Given the description of an element on the screen output the (x, y) to click on. 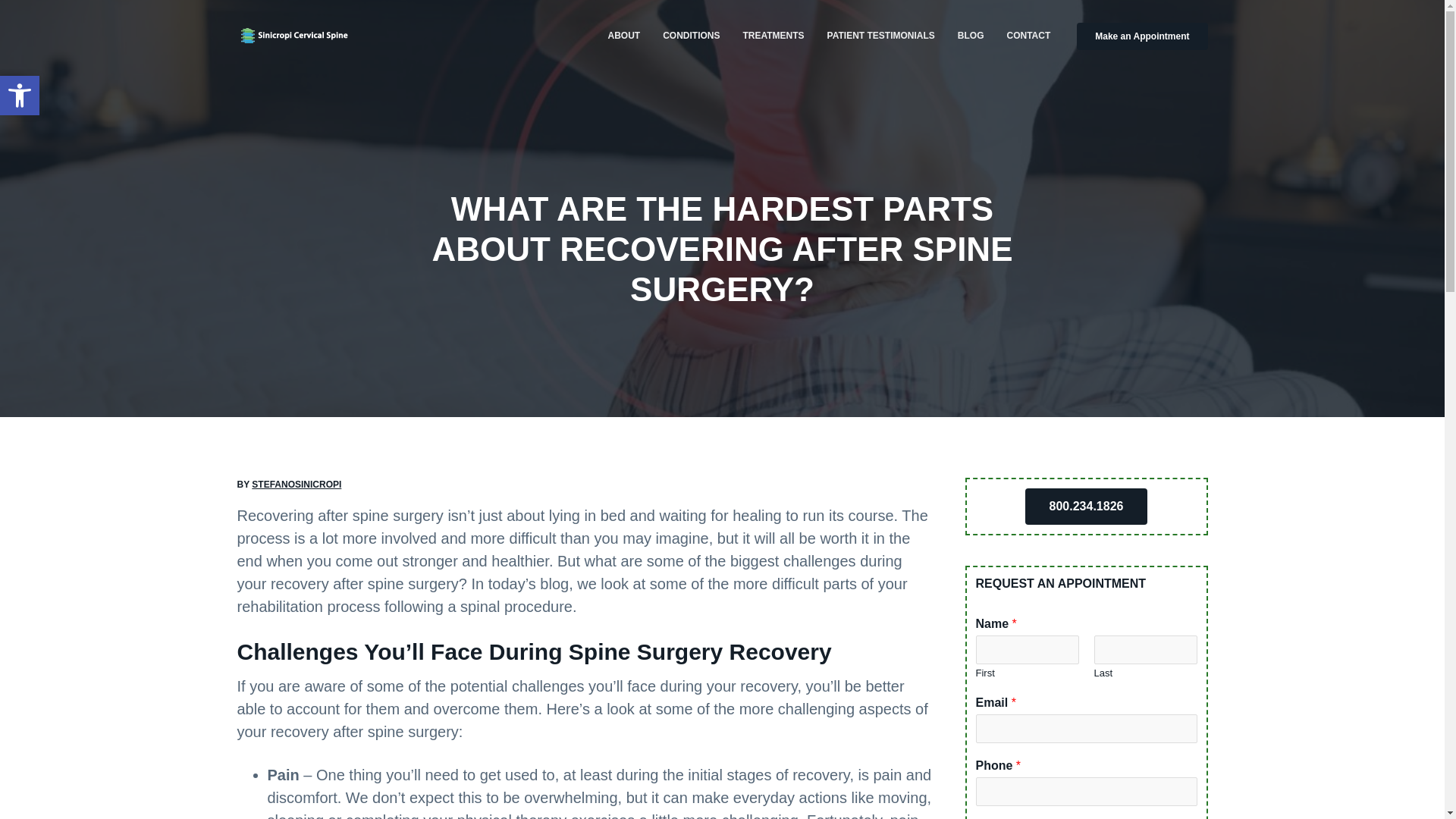
Accessibility Tools (19, 95)
PATIENT TESTIMONIALS (19, 95)
SINICROPI CERVICAL SPINE (880, 35)
STEFANOSINICROPI (324, 60)
CONTACT (295, 484)
TREATMENTS (1027, 35)
CONDITIONS (772, 35)
Accessibility Tools (690, 35)
